Given the description of an element on the screen output the (x, y) to click on. 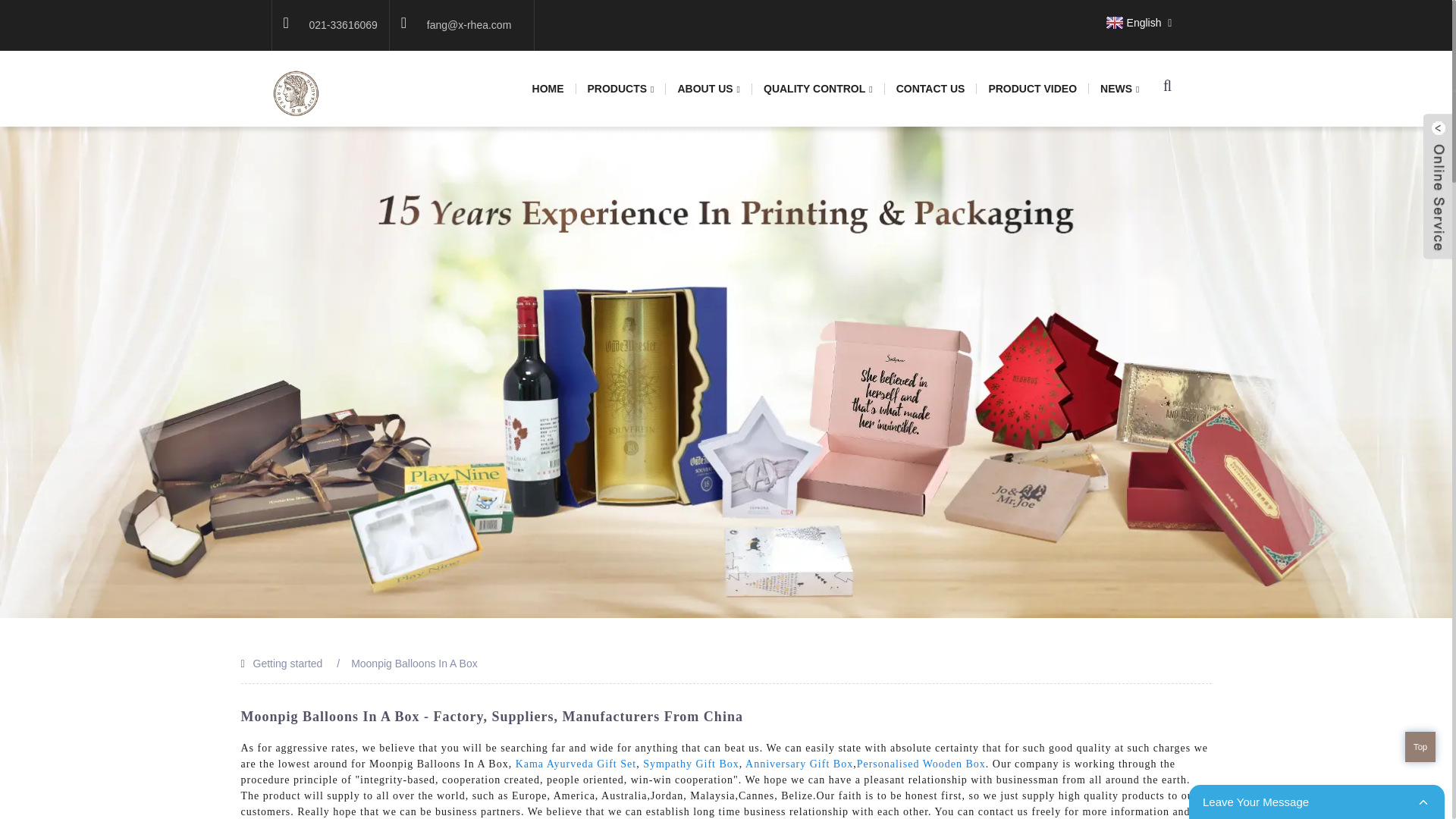
HOME (548, 88)
Kama Ayurveda Gift Set (576, 763)
Personalised Wooden Box (921, 763)
Sympathy Gift Box (691, 763)
Moonpig Balloons In A Box (413, 663)
Personalised Wooden Box (921, 763)
English (1131, 22)
Anniversary Gift Box (799, 763)
Sympathy Gift Box (691, 763)
Anniversary Gift Box (799, 763)
QUALITY CONTROL (818, 89)
ABOUT US (708, 89)
PRODUCTS (621, 89)
Getting started (288, 663)
NEWS (1119, 89)
